Given the description of an element on the screen output the (x, y) to click on. 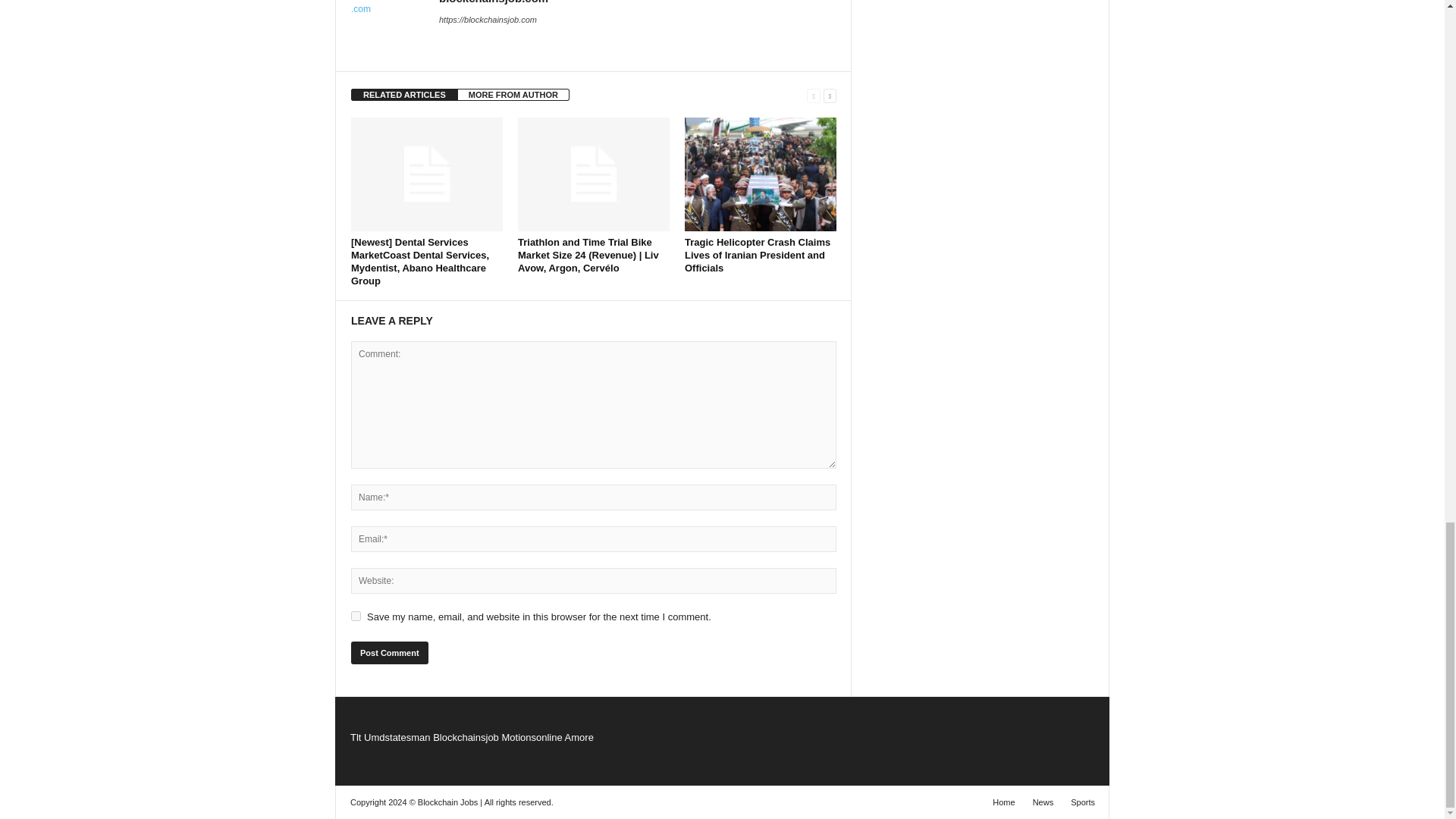
RELATED ARTICLES (404, 94)
yes (355, 615)
blockchainsjob.com (493, 2)
Post Comment (389, 652)
